Given the description of an element on the screen output the (x, y) to click on. 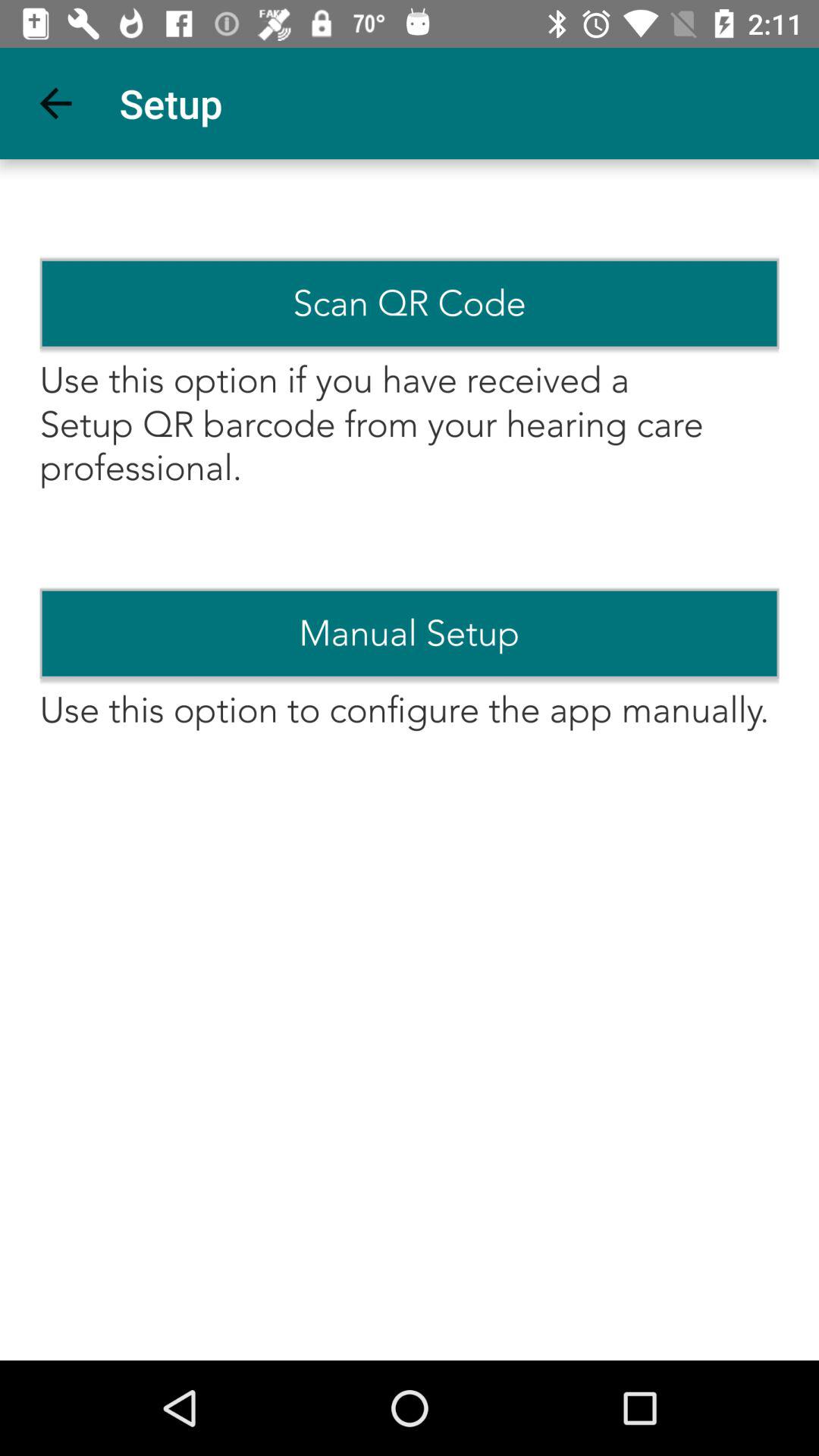
turn on the icon above the use this option item (409, 633)
